Given the description of an element on the screen output the (x, y) to click on. 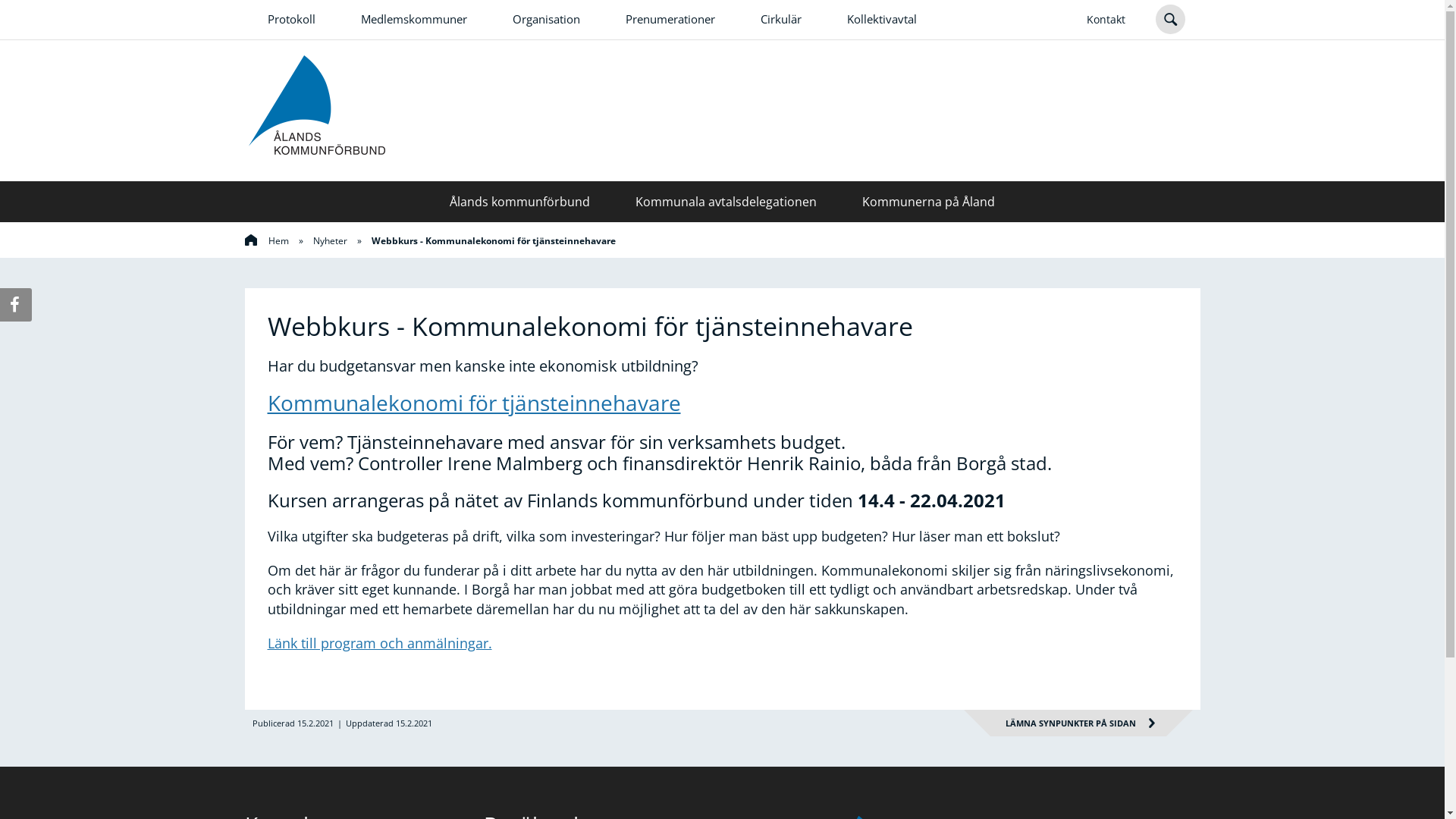
Kommunala avtalsdelegationen Element type: text (725, 201)
Kontakt Element type: text (1104, 20)
Organisation Element type: text (546, 19)
Kollektivavtal Element type: text (881, 19)
Protokoll Element type: text (290, 19)
Medlemskommuner Element type: text (413, 19)
Nyheter Element type: text (329, 240)
Hem Element type: text (266, 240)
Prenumerationer Element type: text (669, 19)
